Given the description of an element on the screen output the (x, y) to click on. 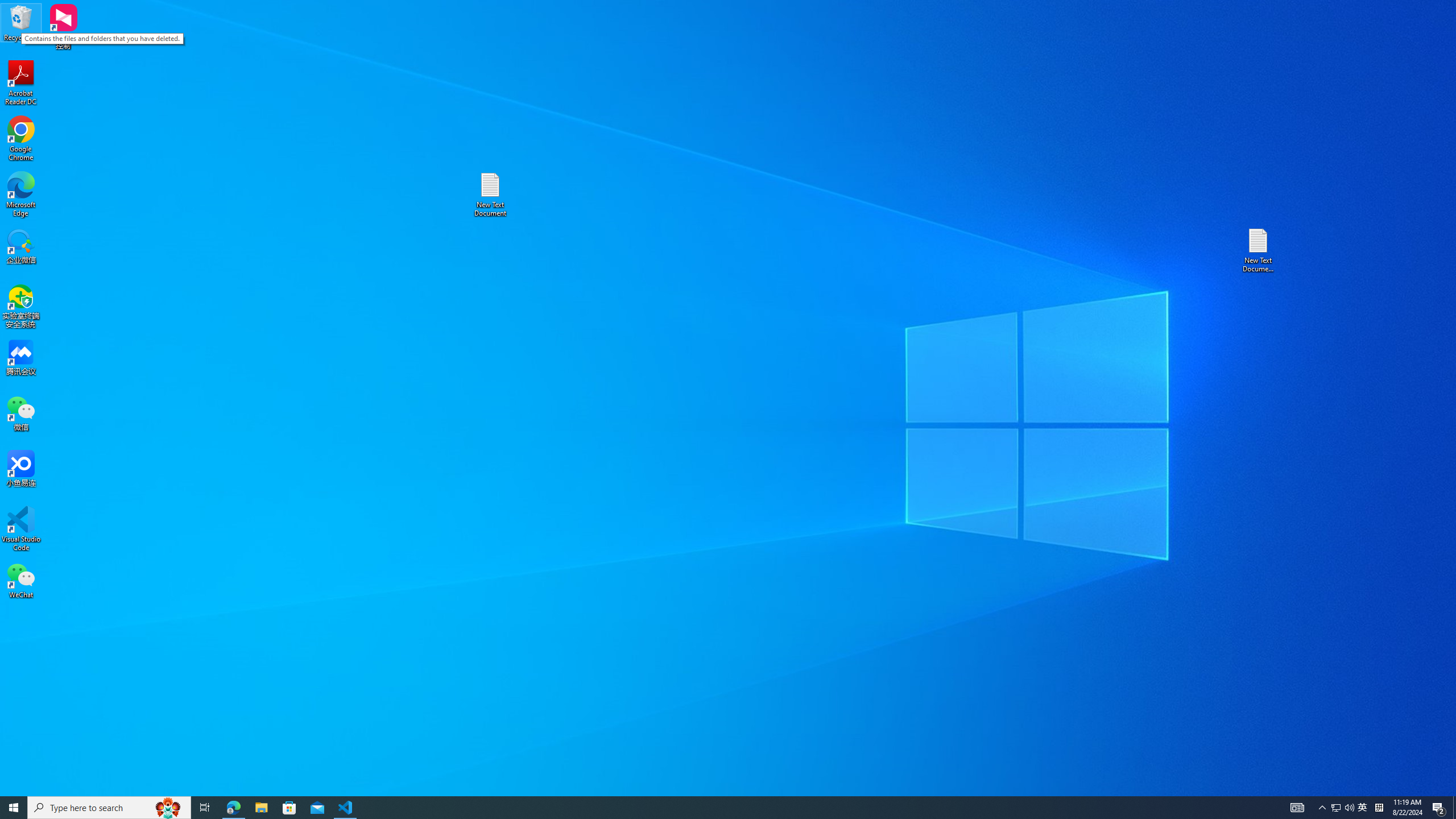
Microsoft Store (289, 807)
Visual Studio Code (21, 528)
